Given the description of an element on the screen output the (x, y) to click on. 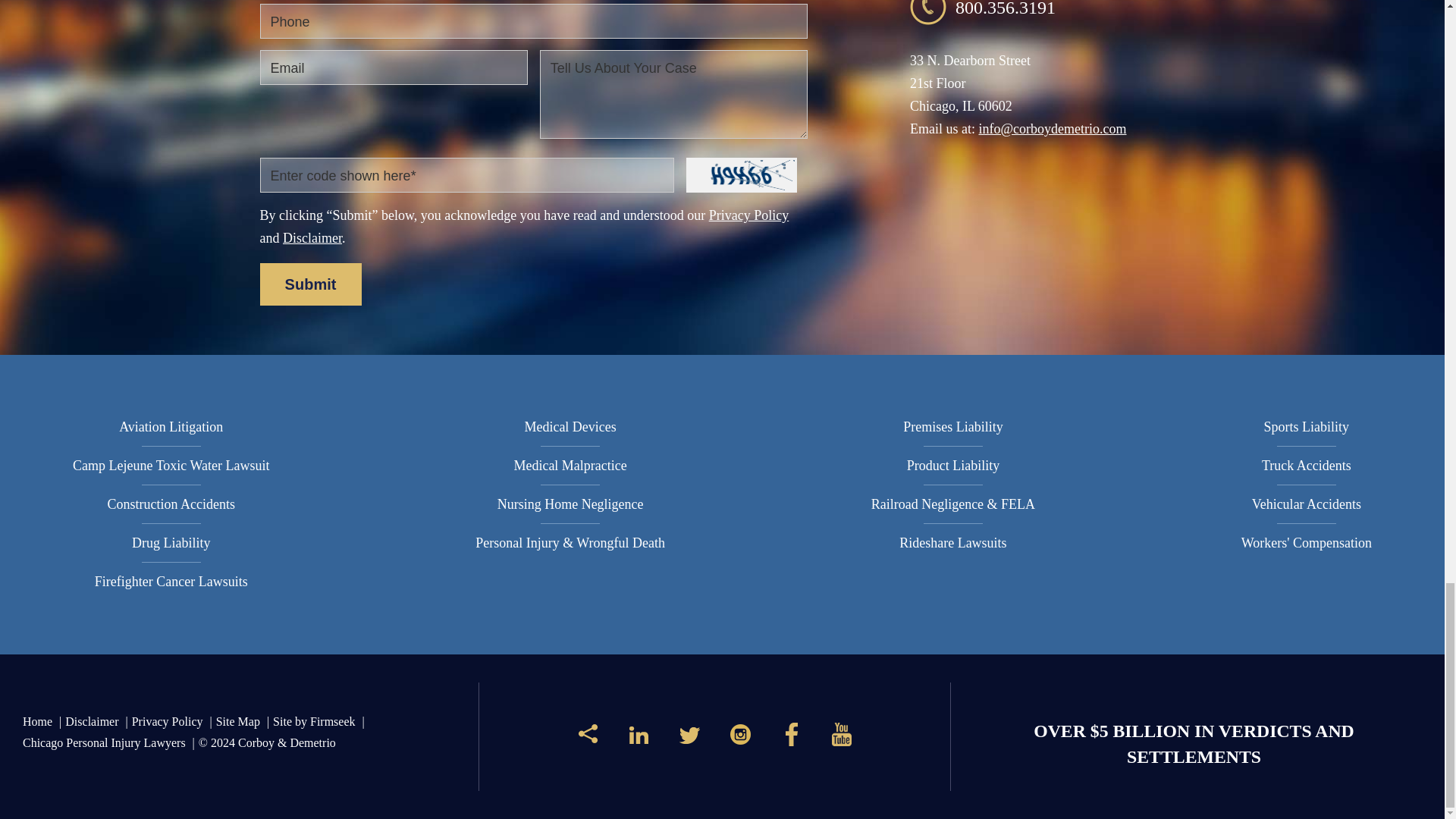
Share (588, 739)
Twitter (689, 740)
Instagram (740, 740)
Submit (310, 283)
Facebook (791, 740)
YouTube (841, 740)
LinkedIn (638, 740)
